Given the description of an element on the screen output the (x, y) to click on. 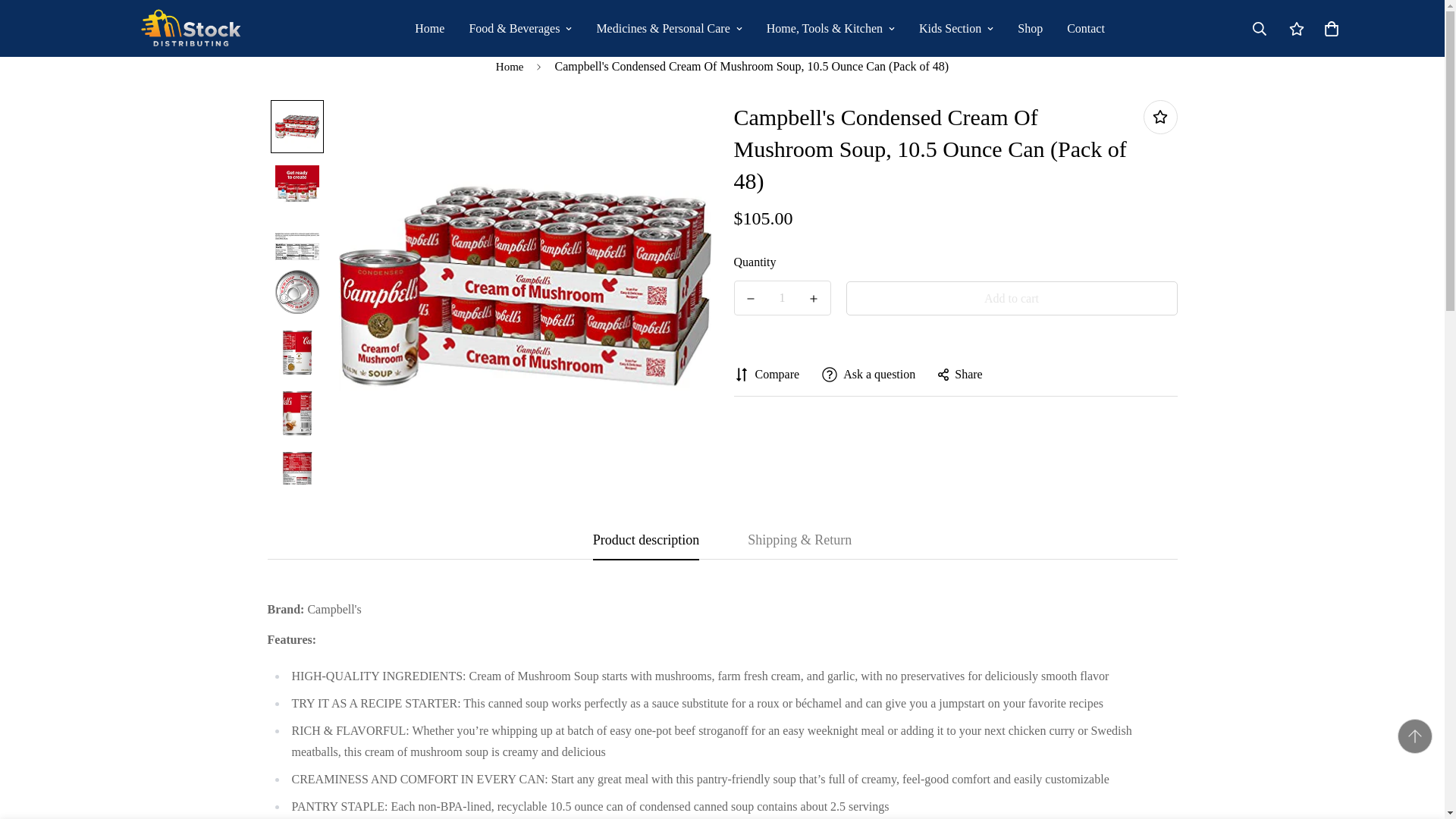
Instock Distributing (191, 28)
Kids Section (956, 28)
Back to the home page (509, 66)
Home (430, 28)
Contact (1085, 28)
1 (782, 297)
Shop (1030, 28)
